Given the description of an element on the screen output the (x, y) to click on. 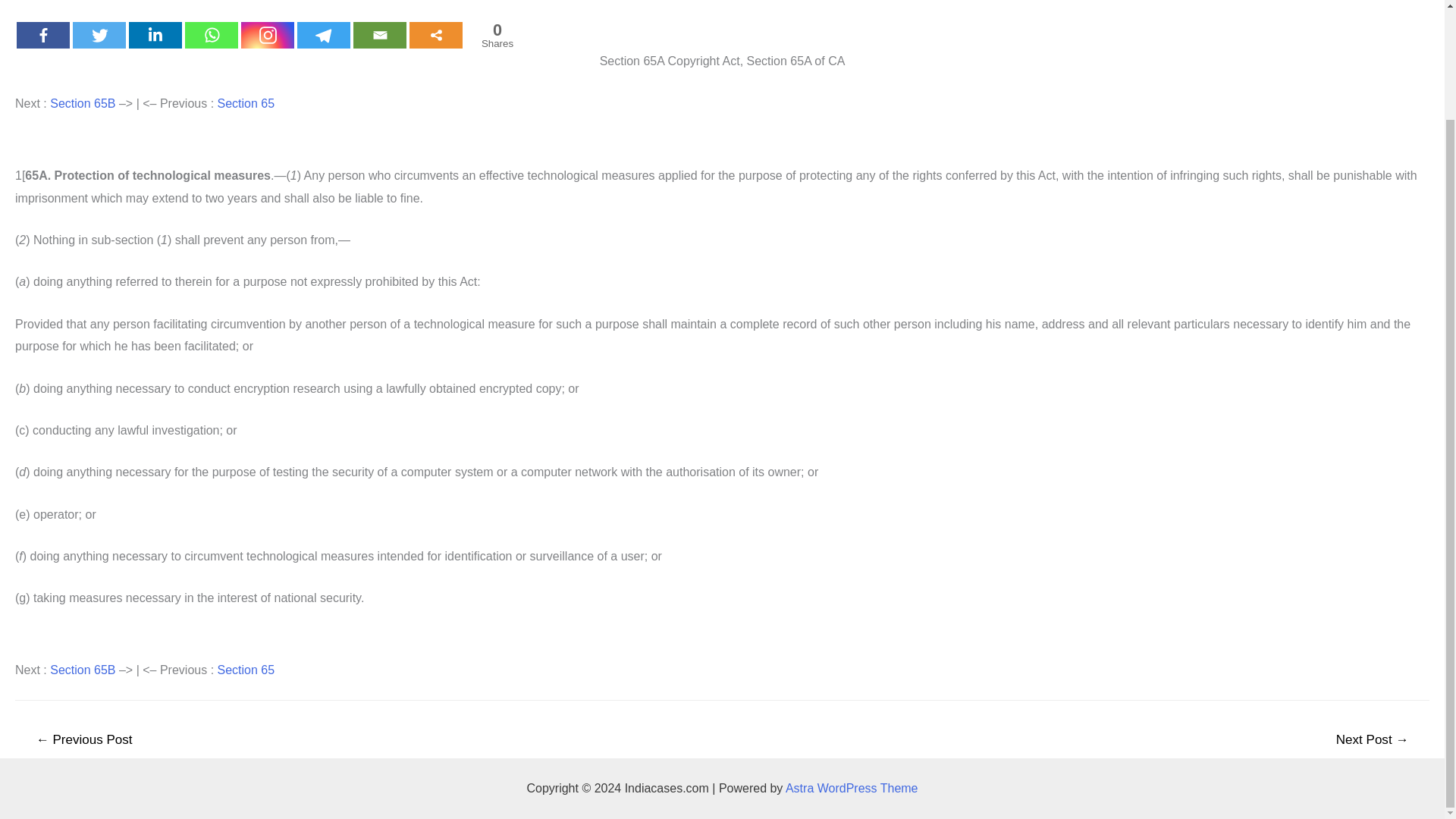
Email (379, 35)
Section 65B (82, 669)
Section 65B (82, 103)
More (436, 35)
Astra WordPress Theme (852, 788)
Linkedin (155, 35)
Twitter (98, 35)
Total Shares (497, 35)
Telegram (323, 35)
Section 65B Copyright Act, 1957 (82, 103)
